Given the description of an element on the screen output the (x, y) to click on. 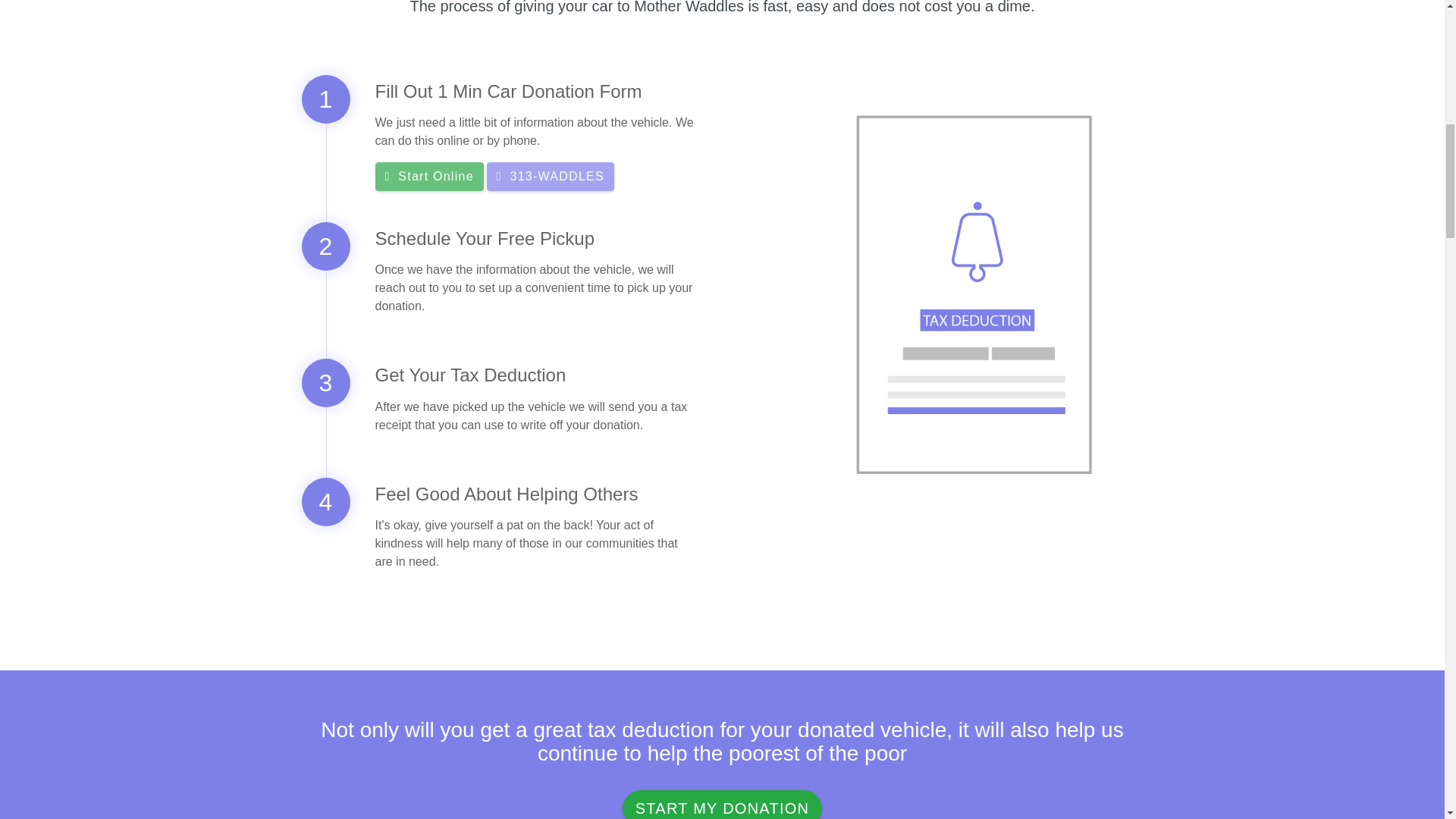
313-WADDLES (550, 176)
Start Online (428, 176)
START MY DONATION (722, 804)
